Given the description of an element on the screen output the (x, y) to click on. 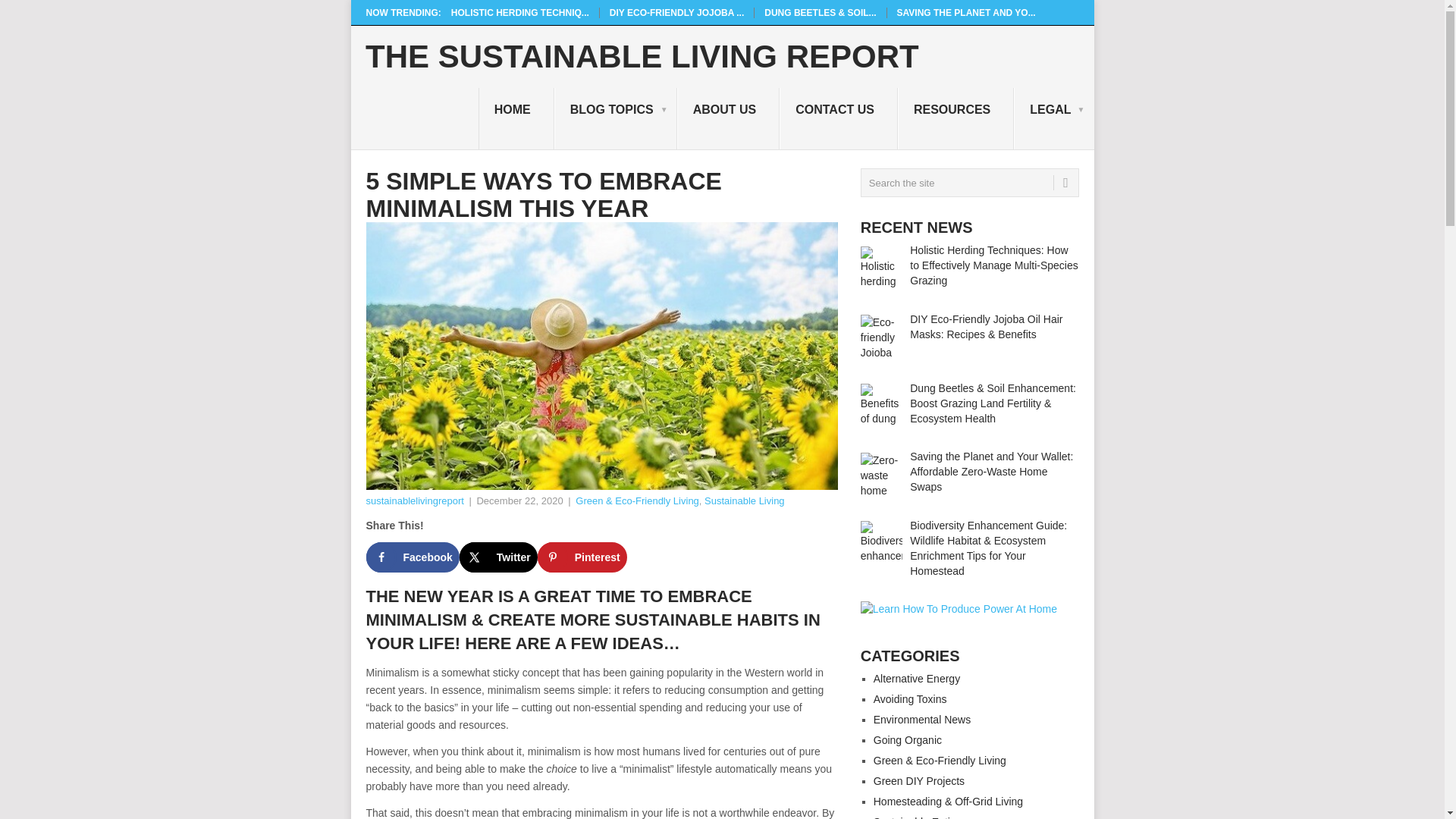
RESOURCES (955, 118)
Share on Facebook (411, 557)
Posts by sustainablelivingreport (414, 500)
LEGAL (1053, 118)
SAVING THE PLANET AND YO... (965, 12)
Pinterest (582, 557)
HOLISTIC HERDING TECHNIQ... (520, 12)
THE SUSTAINABLE LIVING REPORT (641, 56)
Share on X (498, 557)
